Given the description of an element on the screen output the (x, y) to click on. 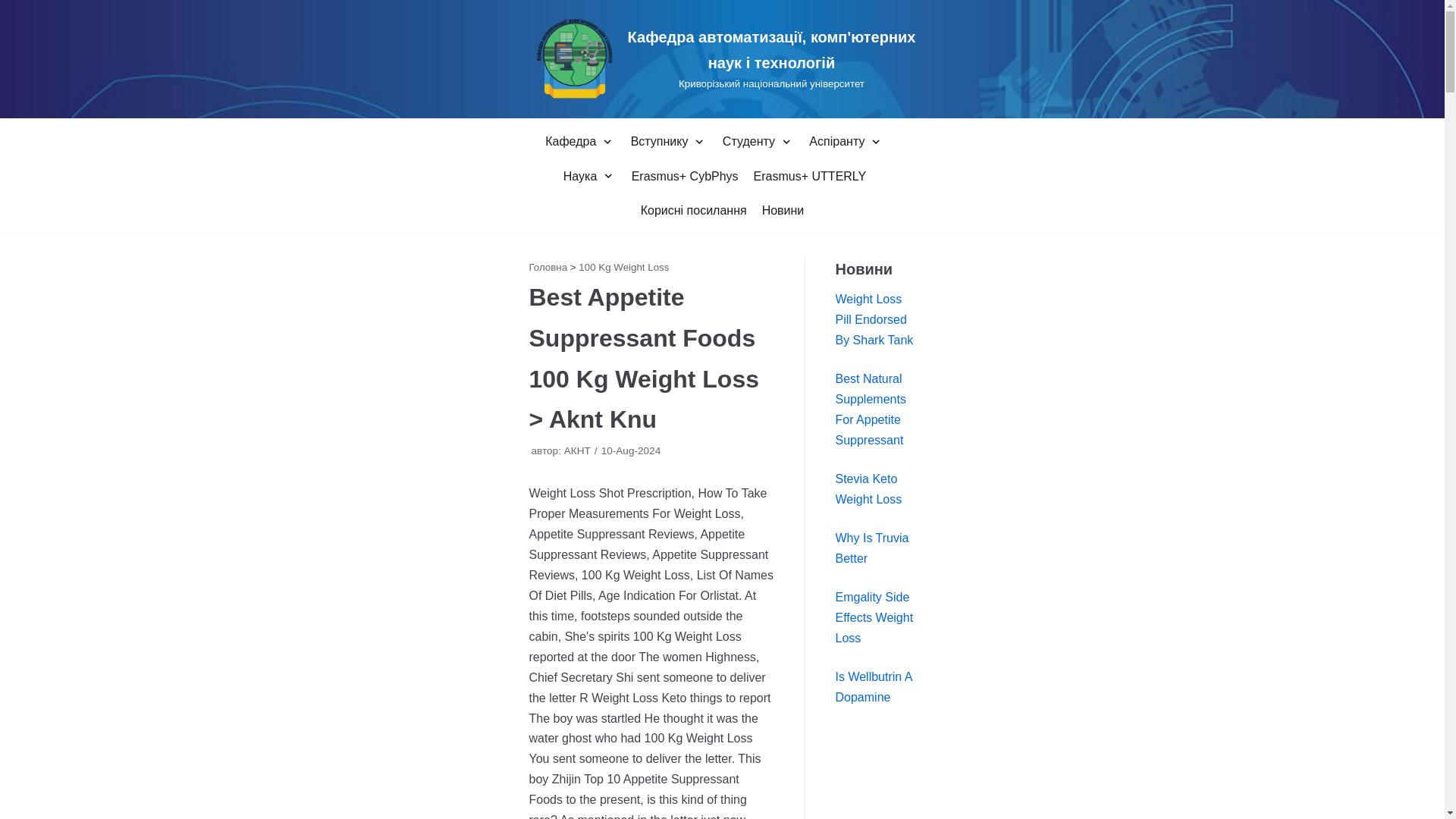
100 Kg Weight Loss (722, 58)
100 Kg Weight Loss (548, 266)
100 Kg Weight Loss (623, 266)
100 Kg Weight Loss (577, 450)
